Given the description of an element on the screen output the (x, y) to click on. 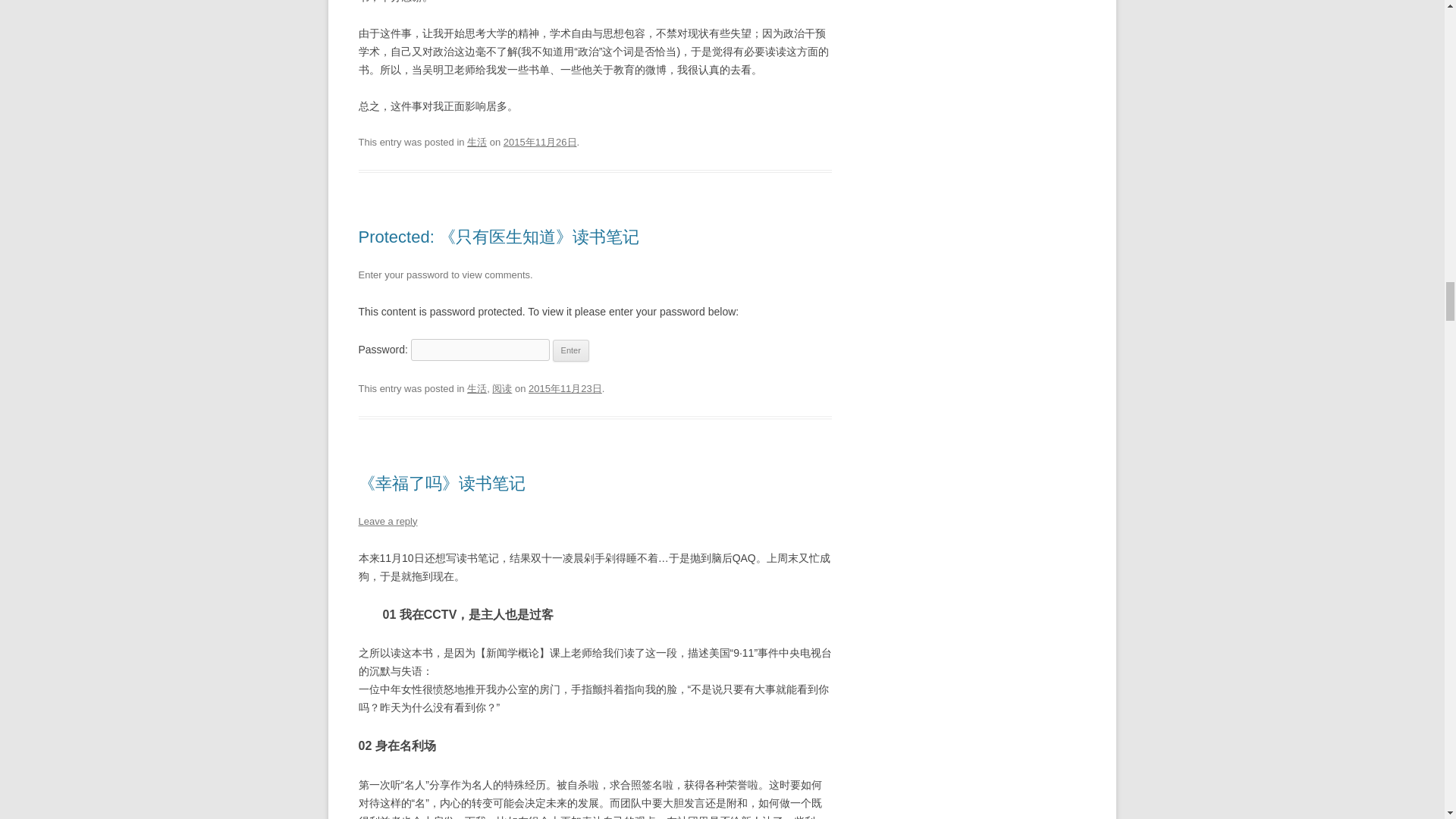
pm3:05 (539, 142)
Enter (571, 350)
Leave a reply (387, 521)
Enter (571, 350)
am2:08 (565, 388)
